Given the description of an element on the screen output the (x, y) to click on. 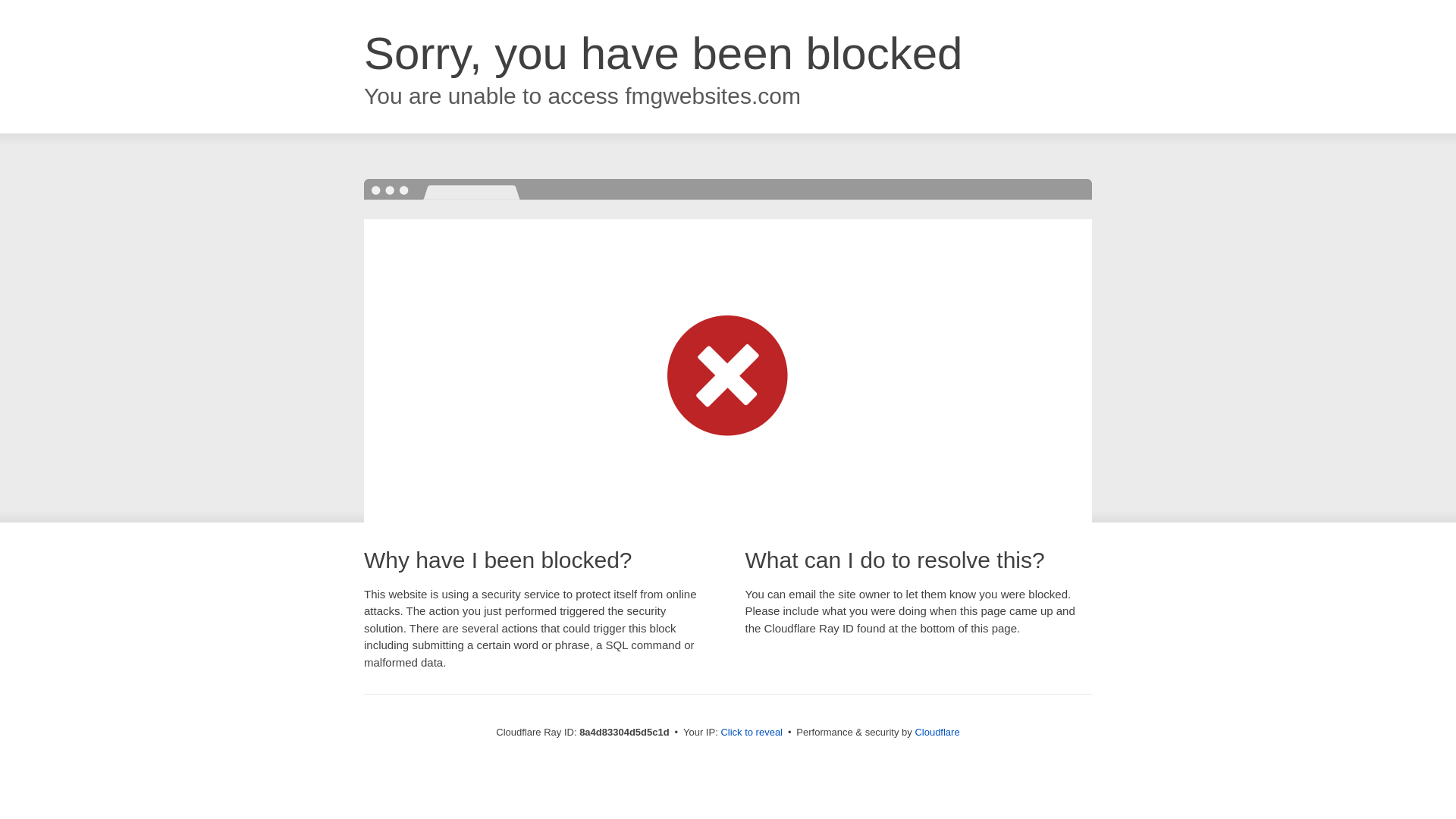
Cloudflare (936, 731)
Click to reveal (751, 732)
